Given the description of an element on the screen output the (x, y) to click on. 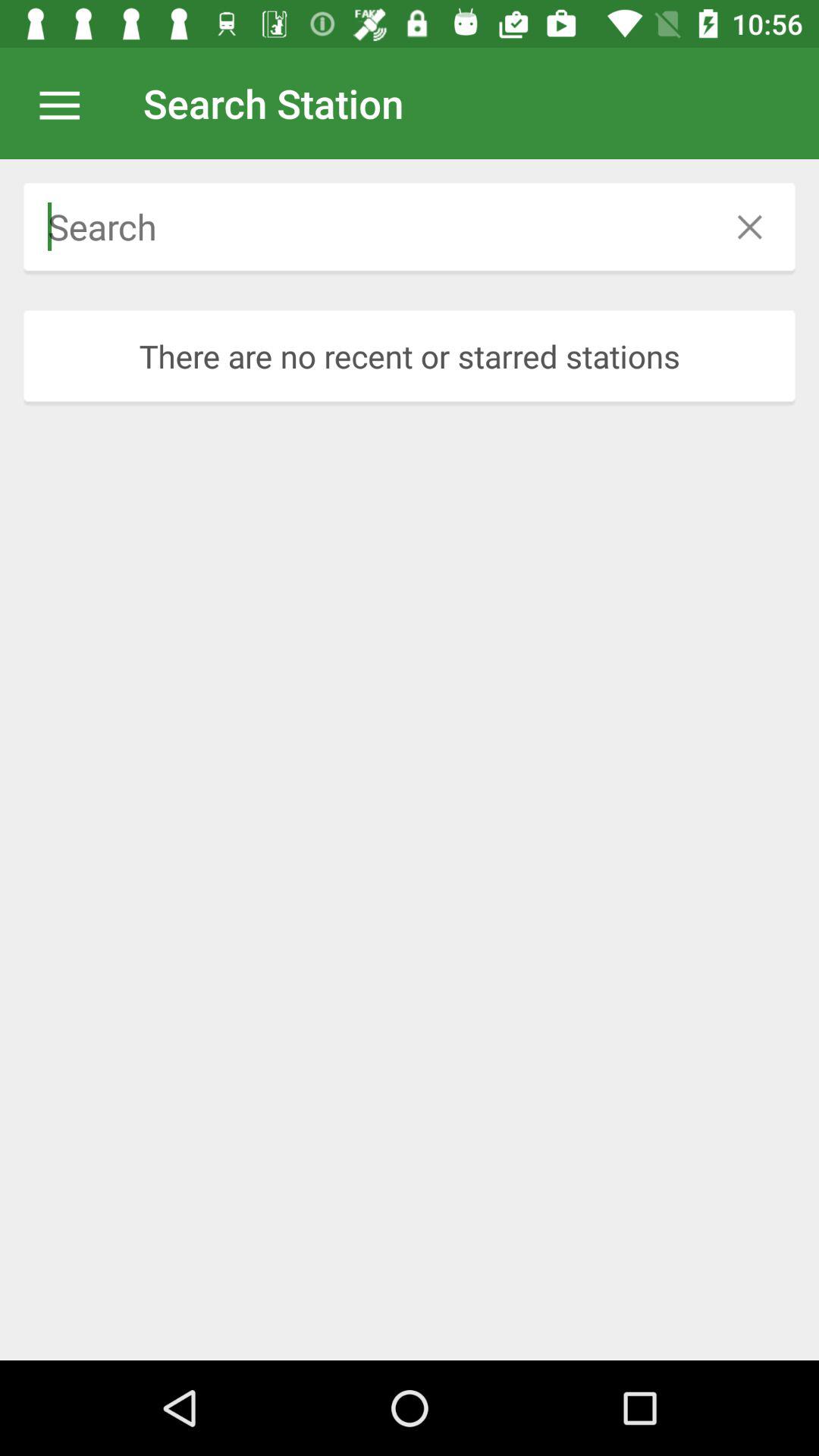
menu (67, 103)
